Given the description of an element on the screen output the (x, y) to click on. 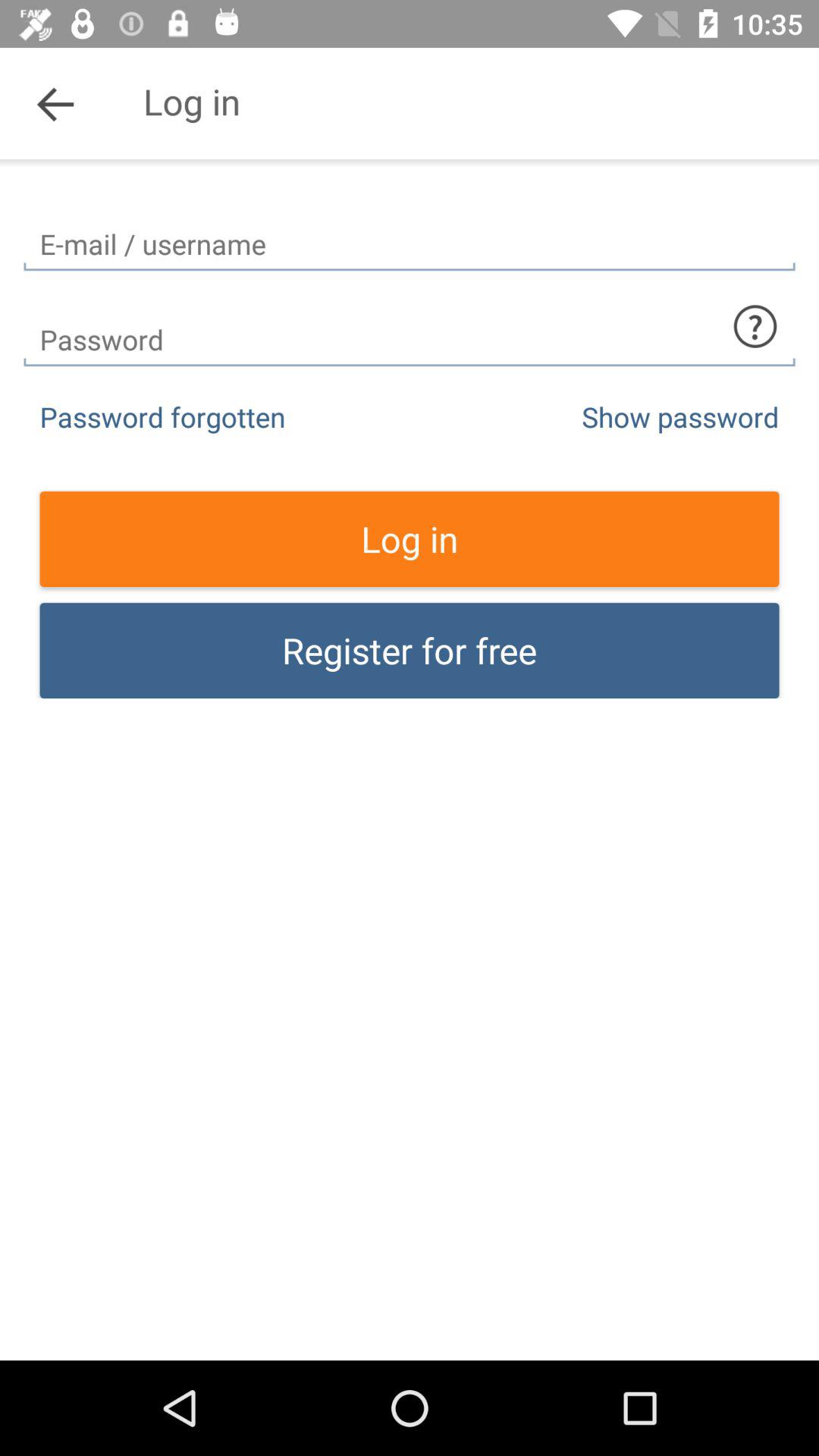
enter password (409, 326)
